Given the description of an element on the screen output the (x, y) to click on. 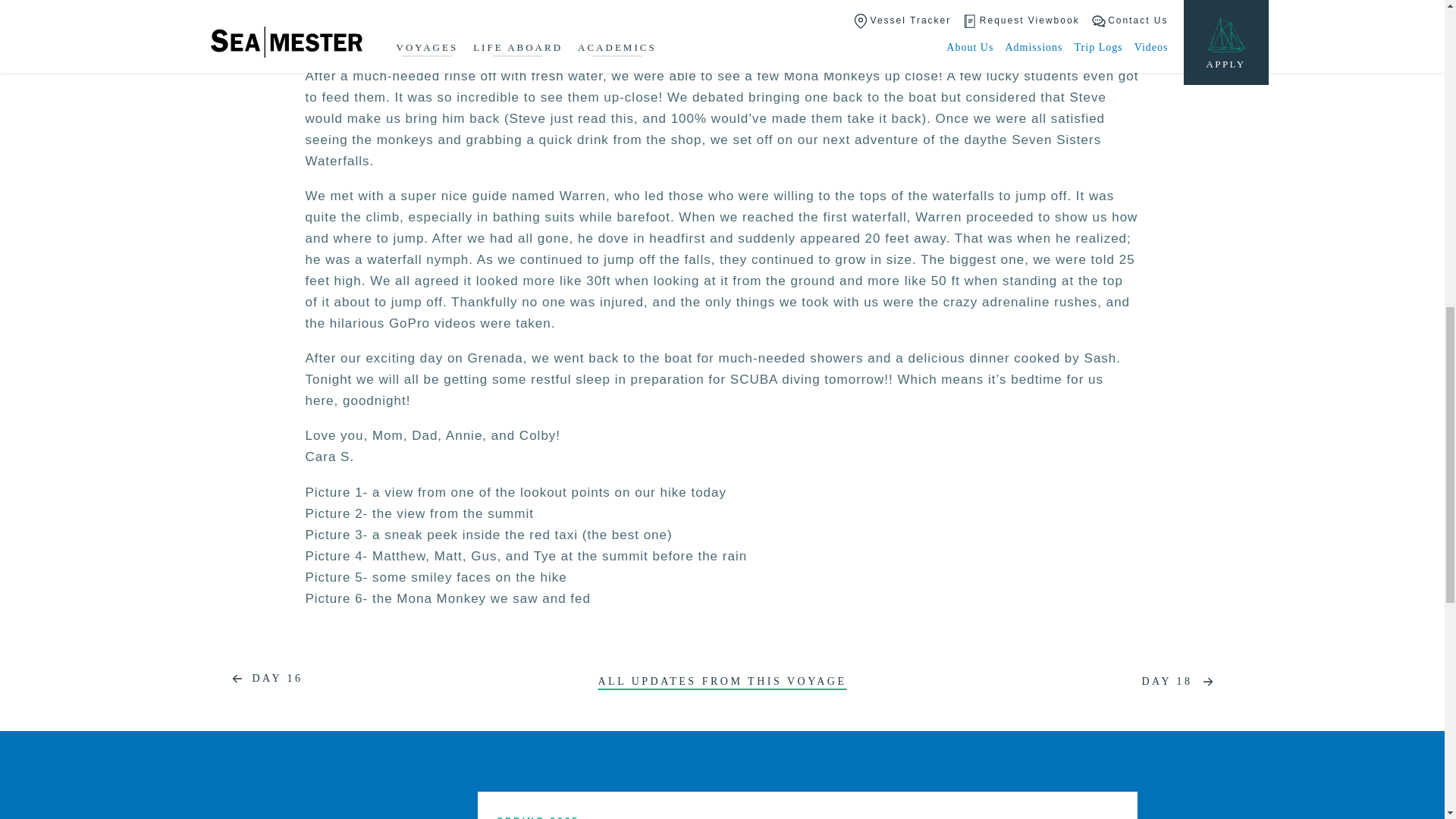
DAY 18 (1182, 681)
DAY 16 (261, 678)
ALL UPDATES FROM THIS VOYAGE (720, 681)
